Given the description of an element on the screen output the (x, y) to click on. 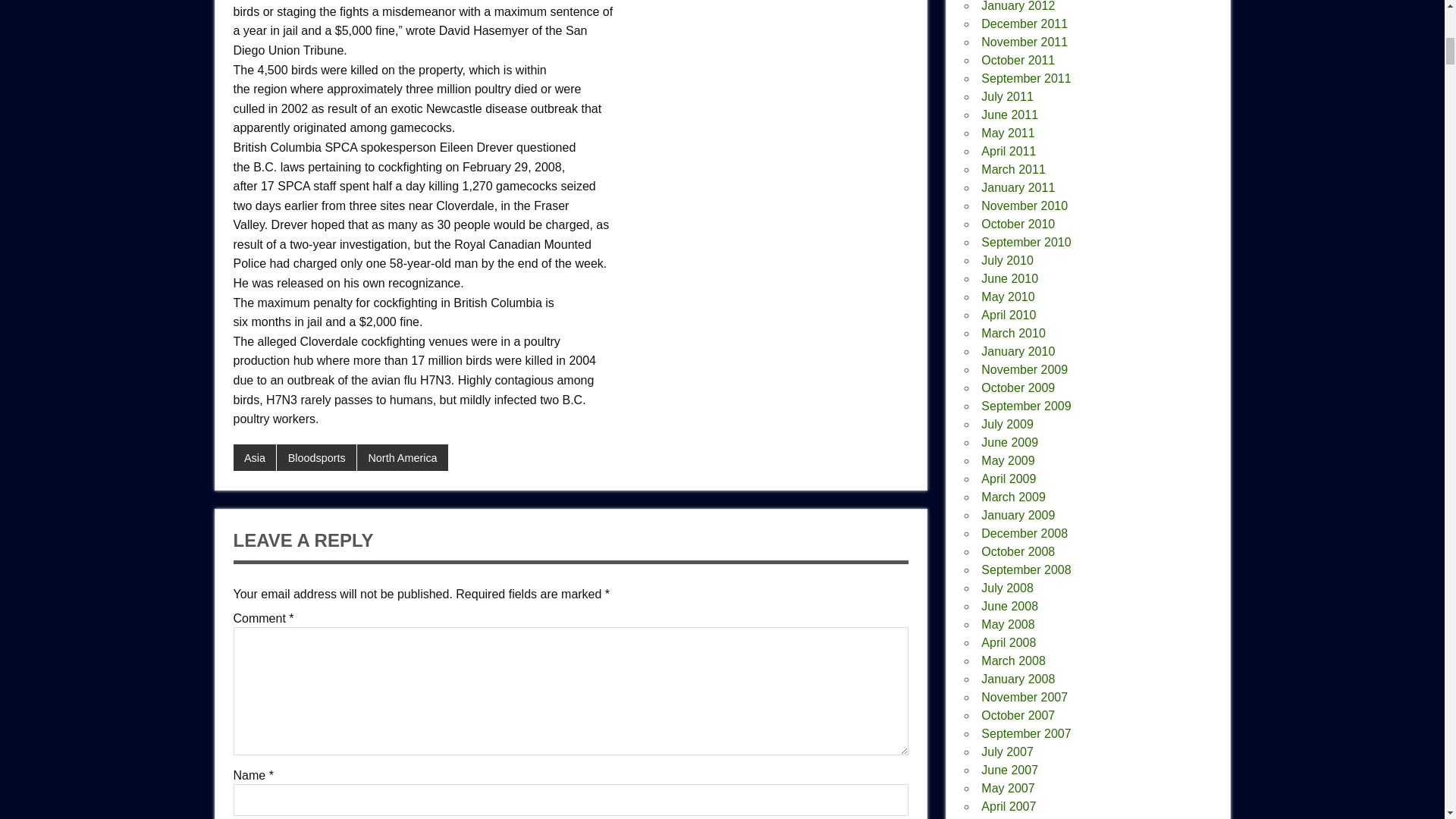
November 2011 (1024, 42)
July 2011 (1007, 96)
January 2012 (1017, 6)
North America (402, 457)
Bloodsports (316, 457)
October 2011 (1017, 60)
Asia (254, 457)
December 2011 (1024, 23)
September 2011 (1025, 78)
